Given the description of an element on the screen output the (x, y) to click on. 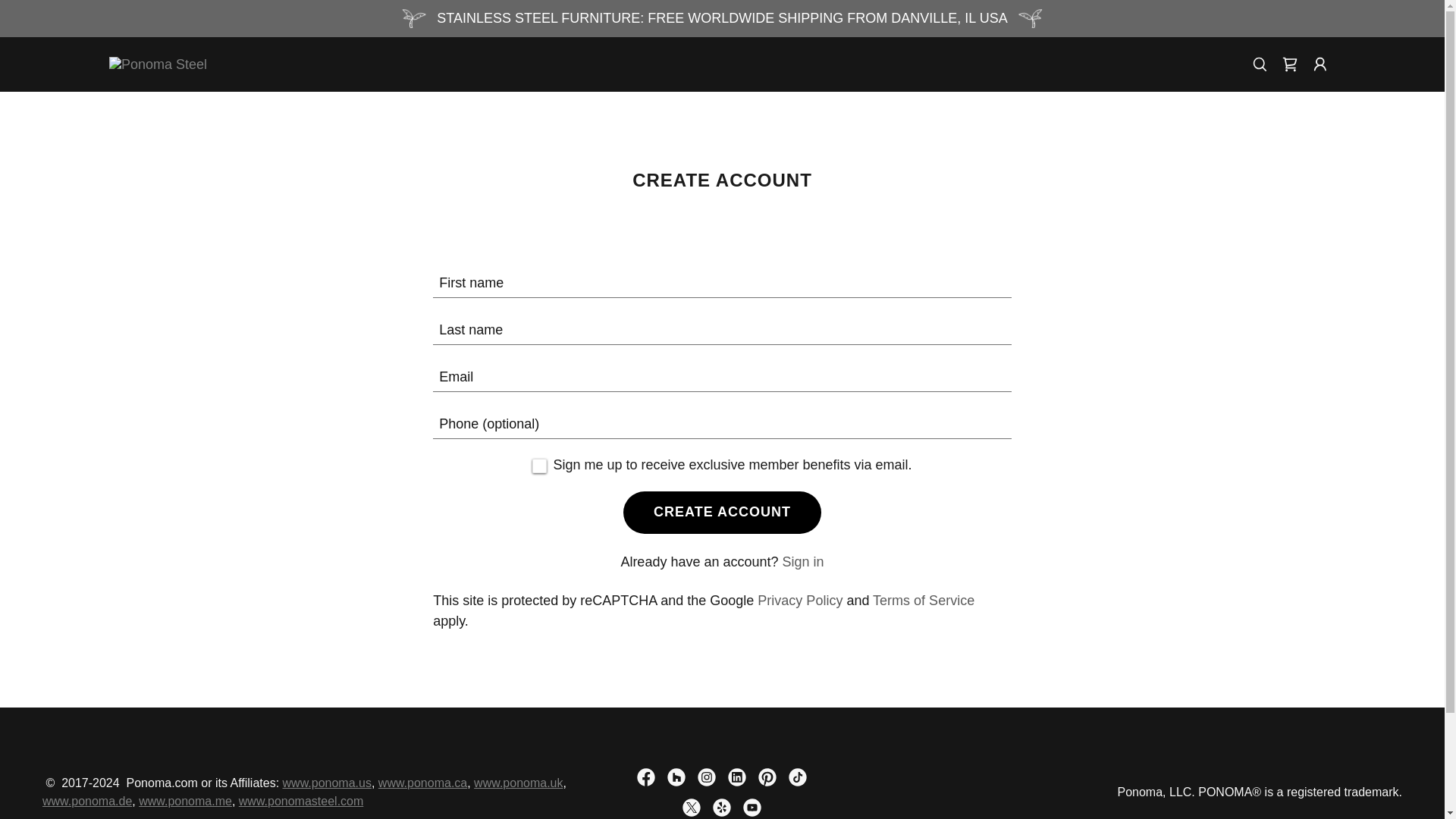
Ponoma Steel (157, 63)
Terms of Service (923, 600)
Privacy Policy (800, 600)
CREATE ACCOUNT (722, 512)
www.ponoma.us (326, 782)
www.ponoma.ca (422, 782)
Sign in (803, 561)
www.ponoma.uk (518, 782)
www.ponoma.de (87, 800)
